Given the description of an element on the screen output the (x, y) to click on. 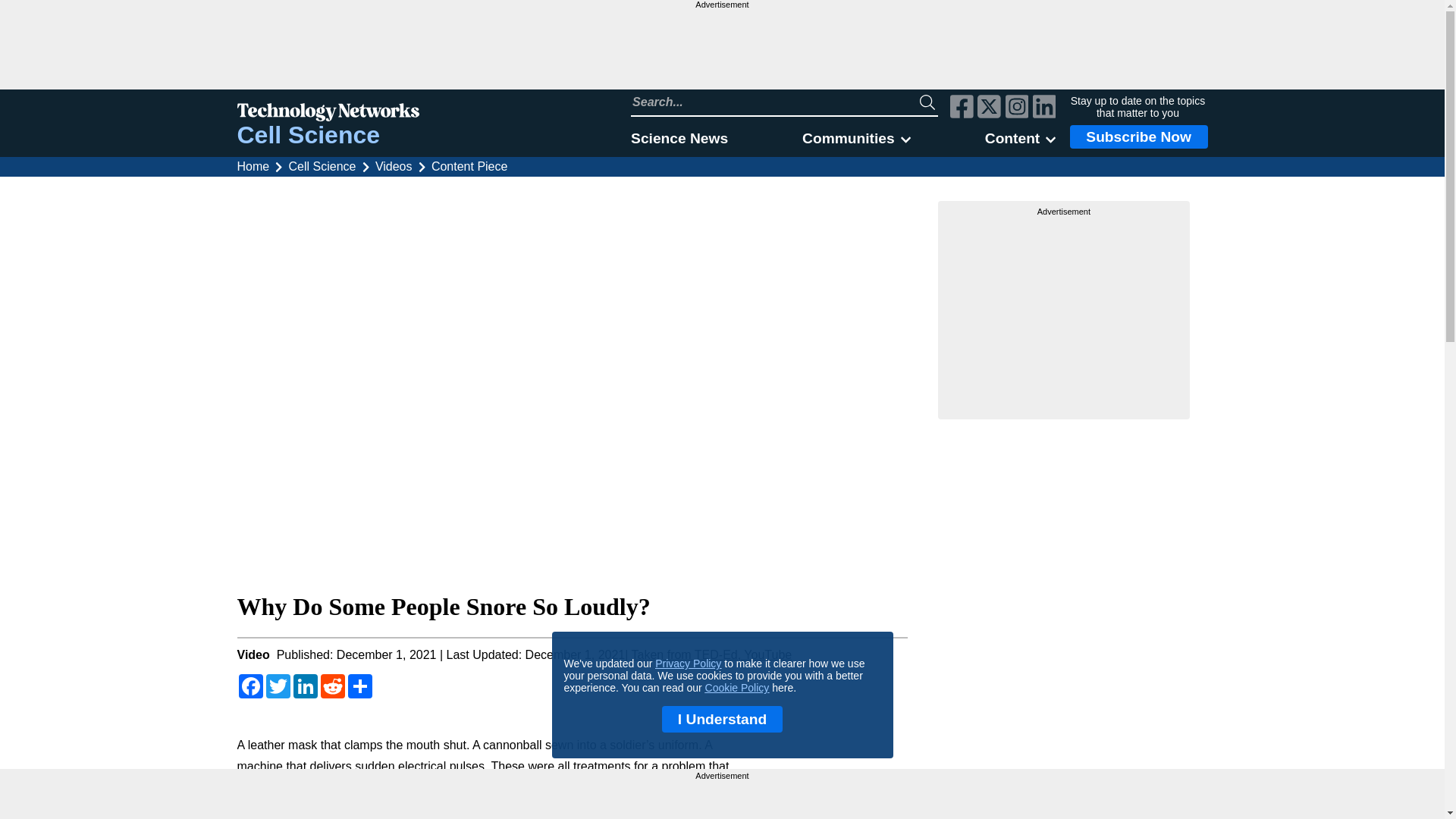
I Understand (722, 718)
Cookie Policy (737, 687)
3rd party ad content (722, 799)
Technology Networks logo (327, 113)
Privacy Policy (687, 663)
3rd party ad content (721, 49)
Click here to visit the original source for this content. (711, 654)
Search Technology Networks website input field (775, 102)
3rd party ad content (1063, 312)
